Given the description of an element on the screen output the (x, y) to click on. 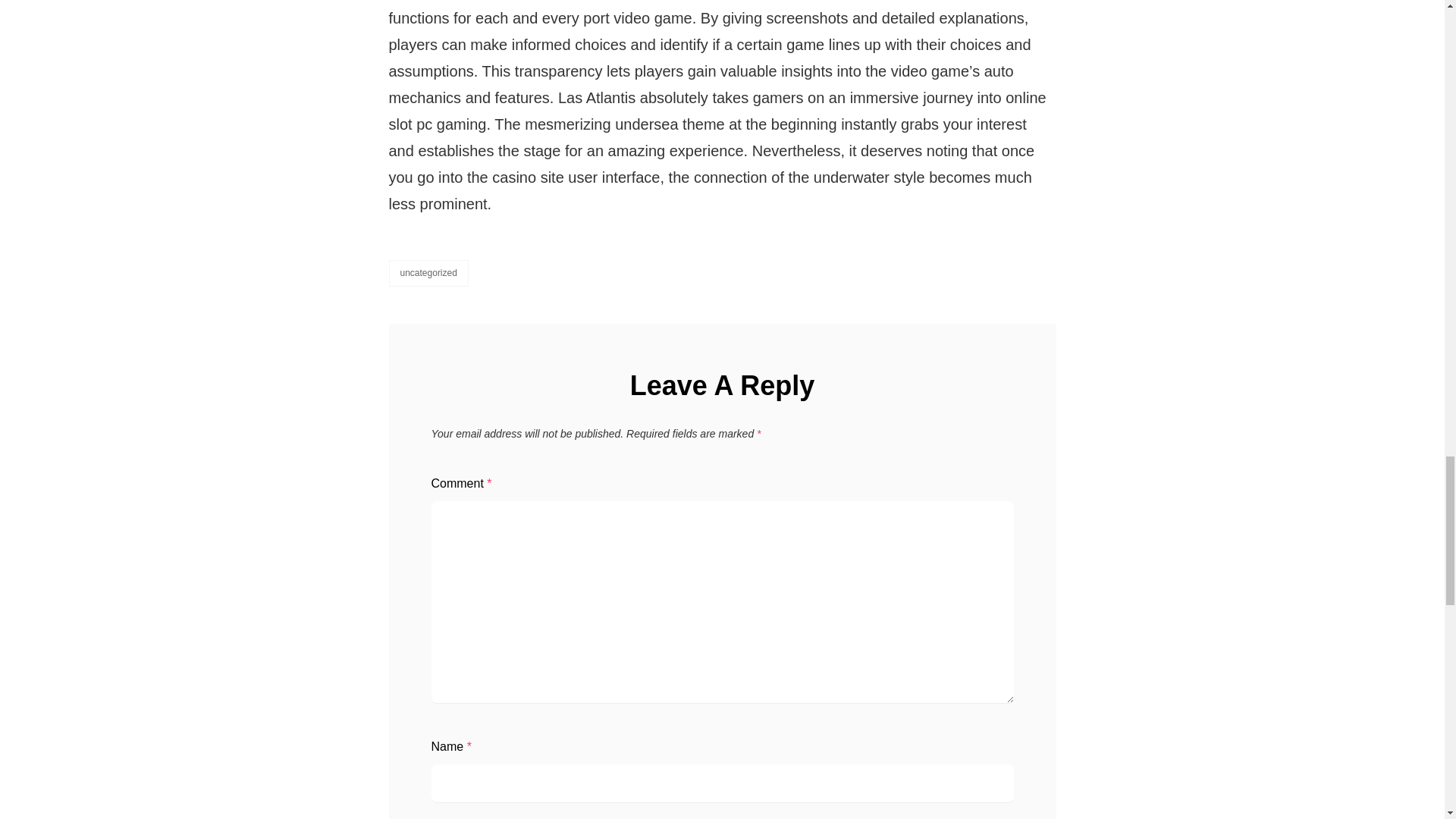
uncategorized (427, 273)
